Given the description of an element on the screen output the (x, y) to click on. 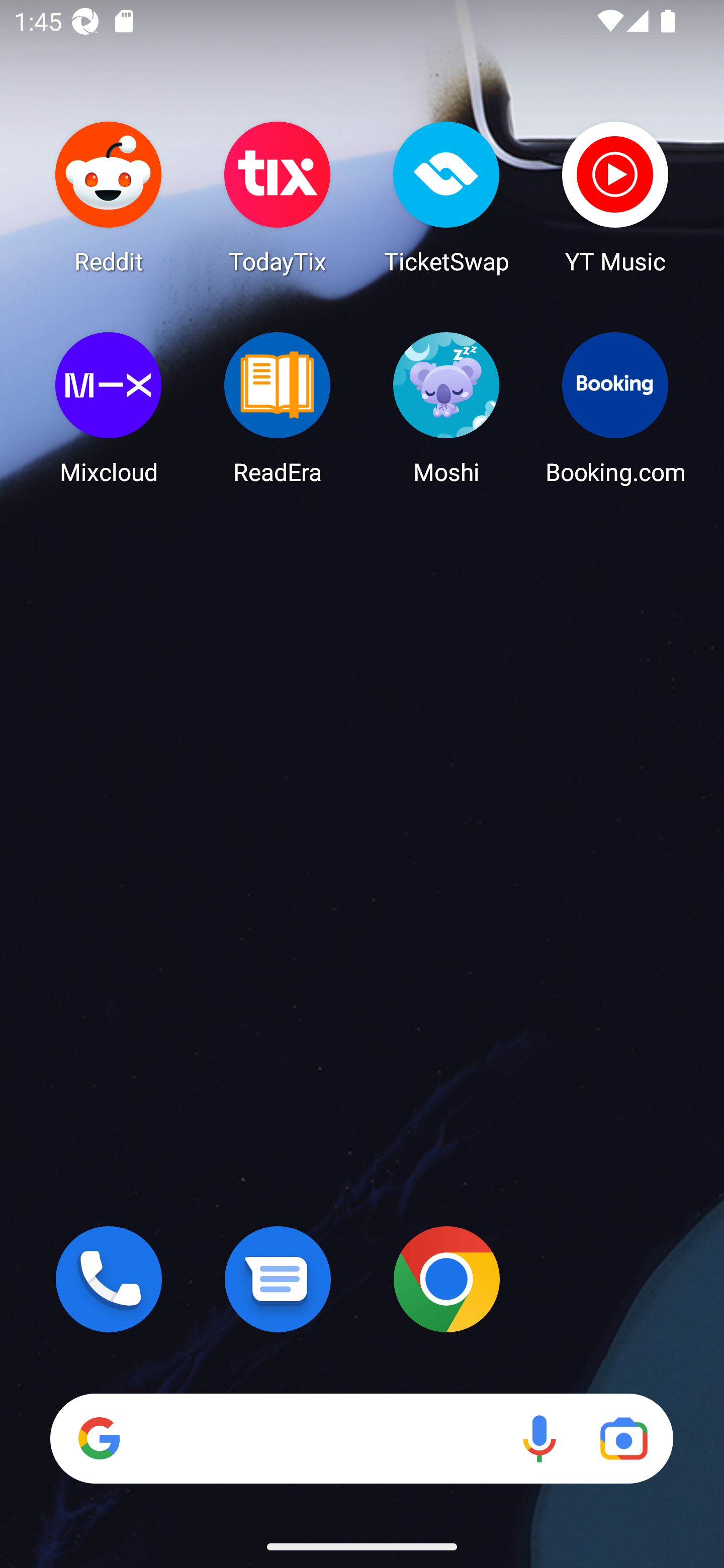
Reddit (108, 196)
TodayTix (277, 196)
TicketSwap (445, 196)
YT Music (615, 196)
Mixcloud (108, 407)
ReadEra (277, 407)
Moshi (445, 407)
Booking.com (615, 407)
Phone (108, 1279)
Messages (277, 1279)
Chrome (446, 1279)
Search Voice search Google Lens (361, 1438)
Voice search (539, 1438)
Google Lens (623, 1438)
